Given the description of an element on the screen output the (x, y) to click on. 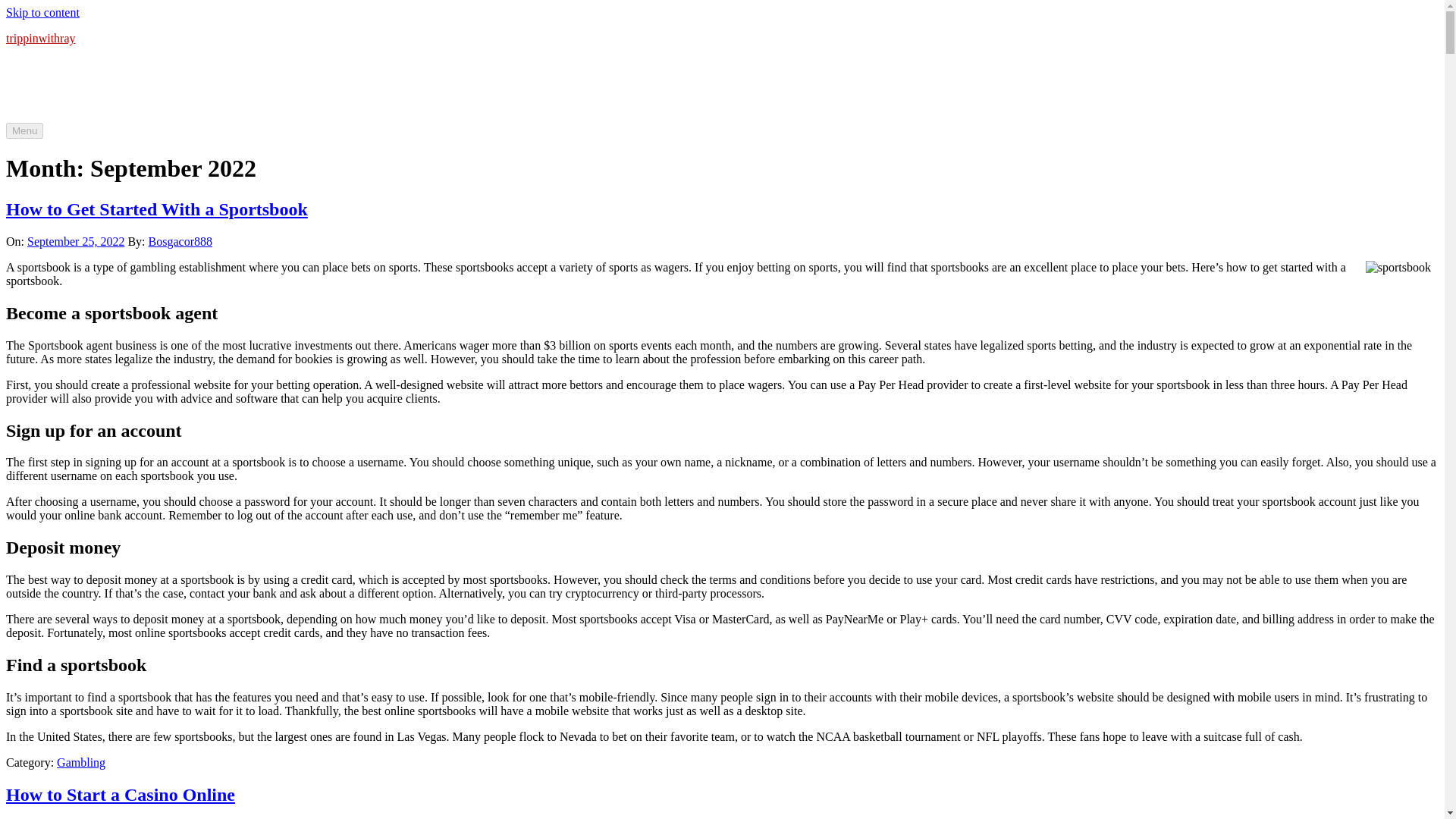
How to Get Started With a Sportsbook (156, 209)
How to Start a Casino Online (119, 794)
Gambling (80, 762)
September 25, 2022 (75, 241)
Menu (24, 130)
Skip to content (42, 11)
trippinwithray (40, 38)
Bosgacor888 (180, 241)
